Given the description of an element on the screen output the (x, y) to click on. 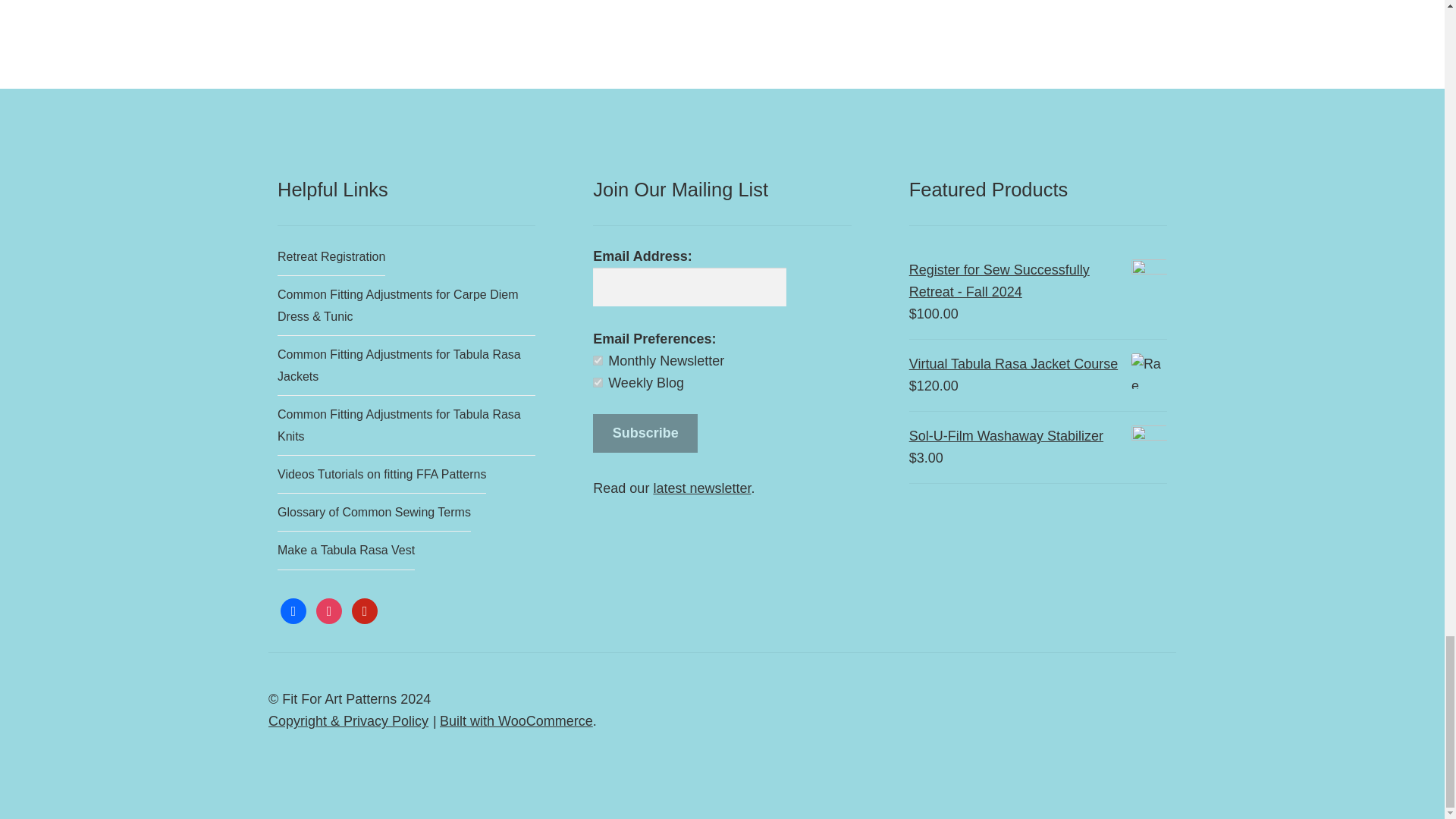
1 (597, 360)
Subscribe (644, 433)
Facebook (293, 610)
Instagram (328, 610)
2 (597, 382)
